Given the description of an element on the screen output the (x, y) to click on. 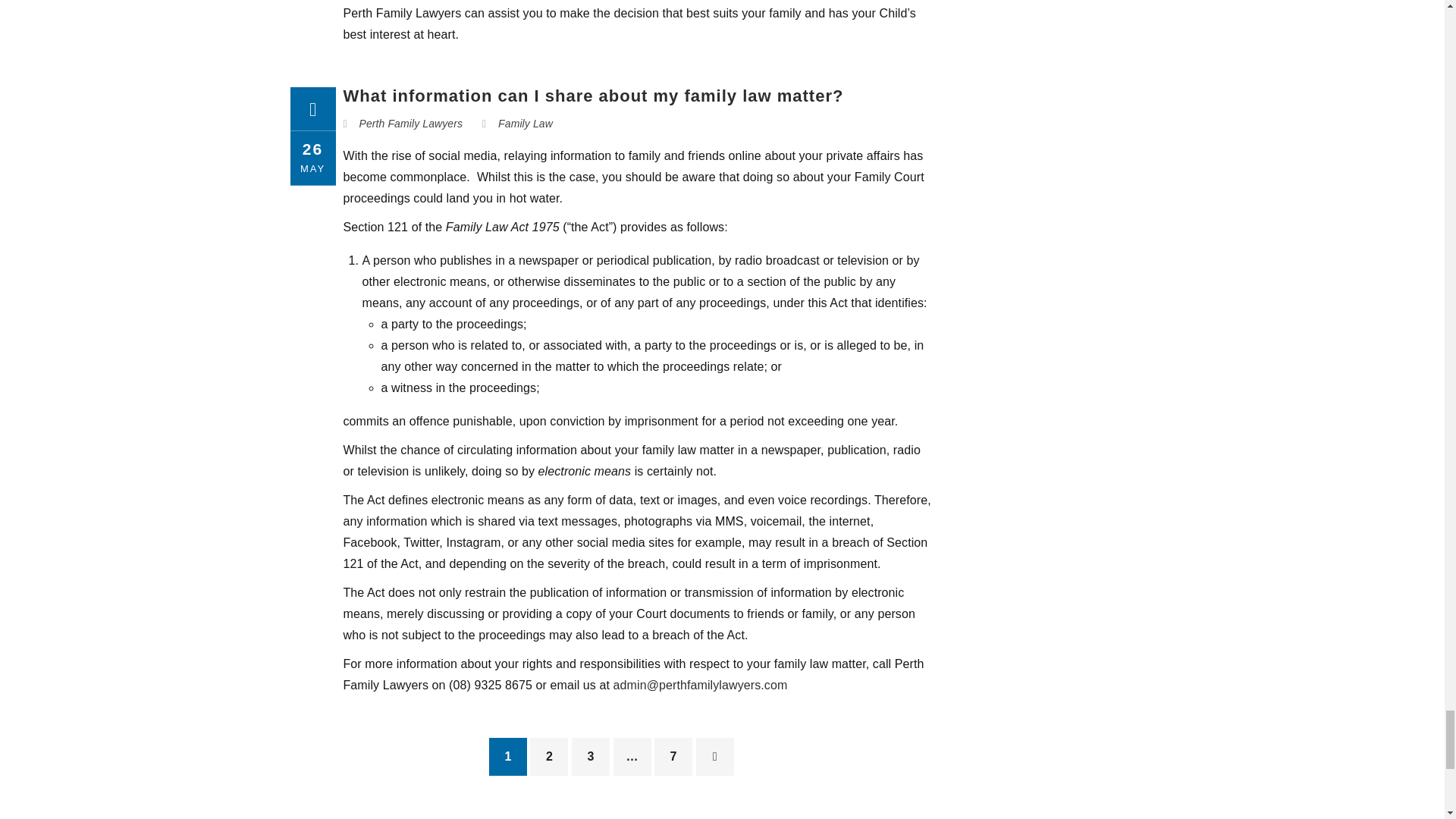
View all posts by Perth Family Lawyers (411, 123)
